Given the description of an element on the screen output the (x, y) to click on. 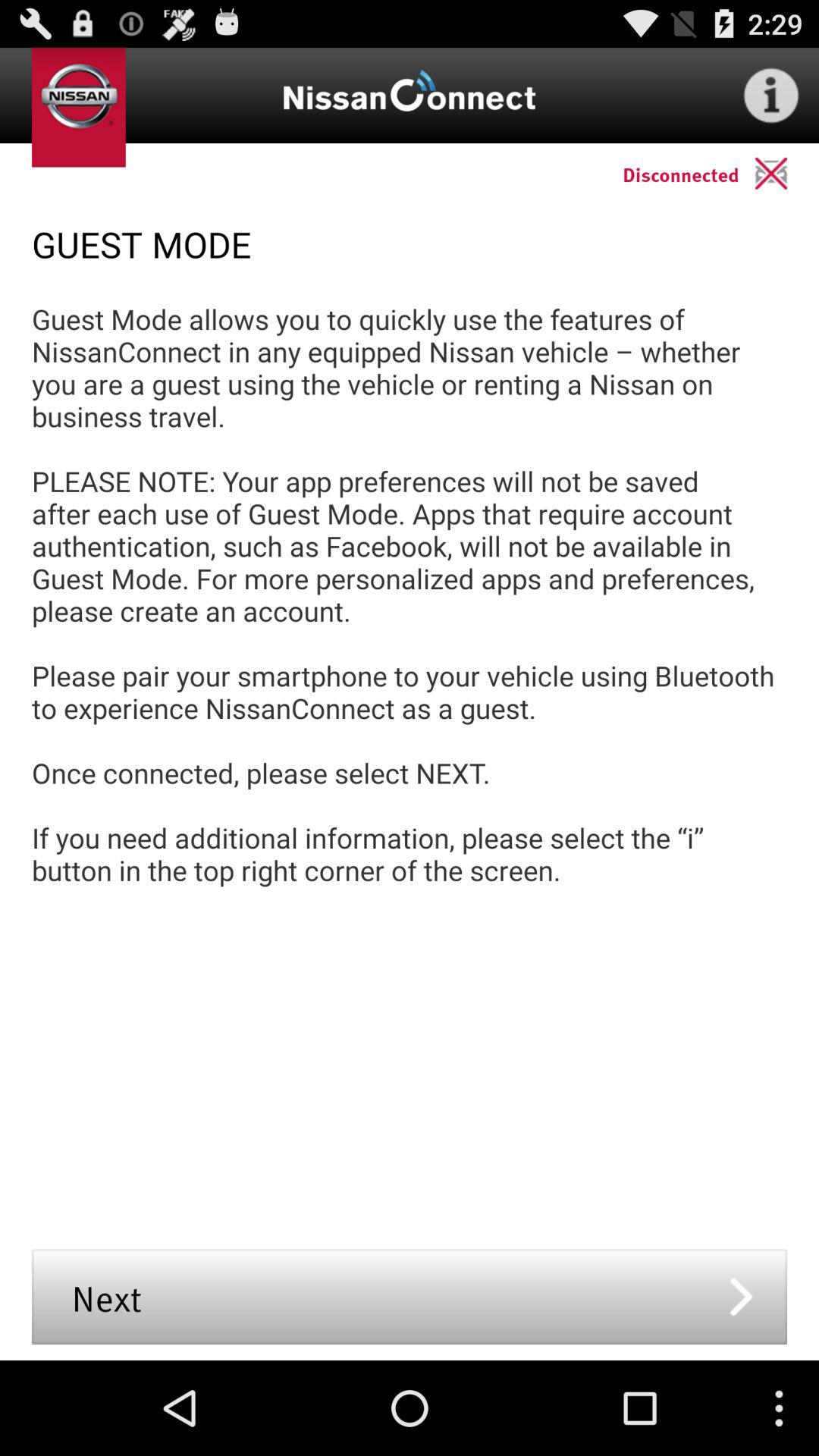
connect (787, 173)
